Given the description of an element on the screen output the (x, y) to click on. 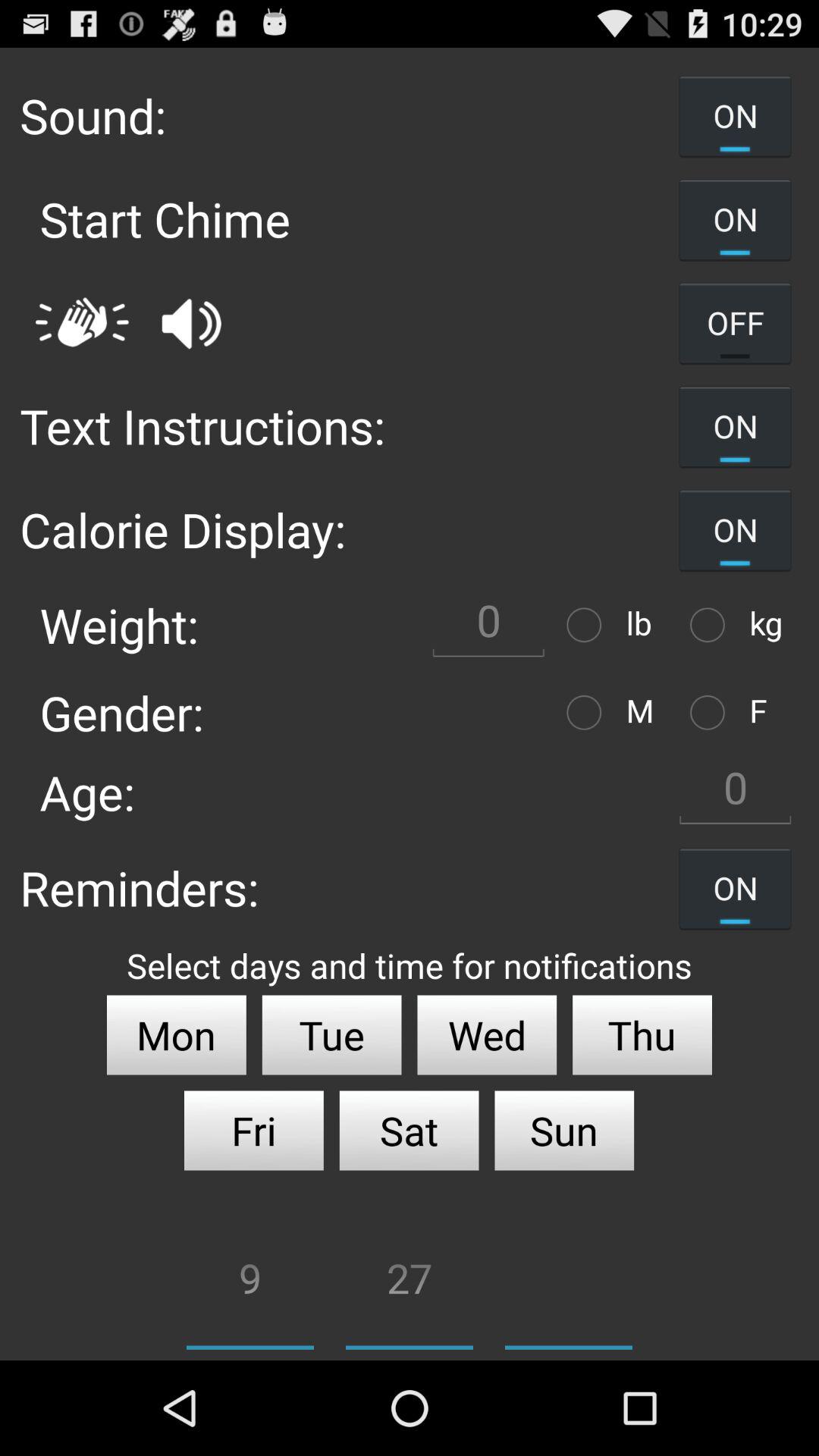
enter age (735, 792)
